Given the description of an element on the screen output the (x, y) to click on. 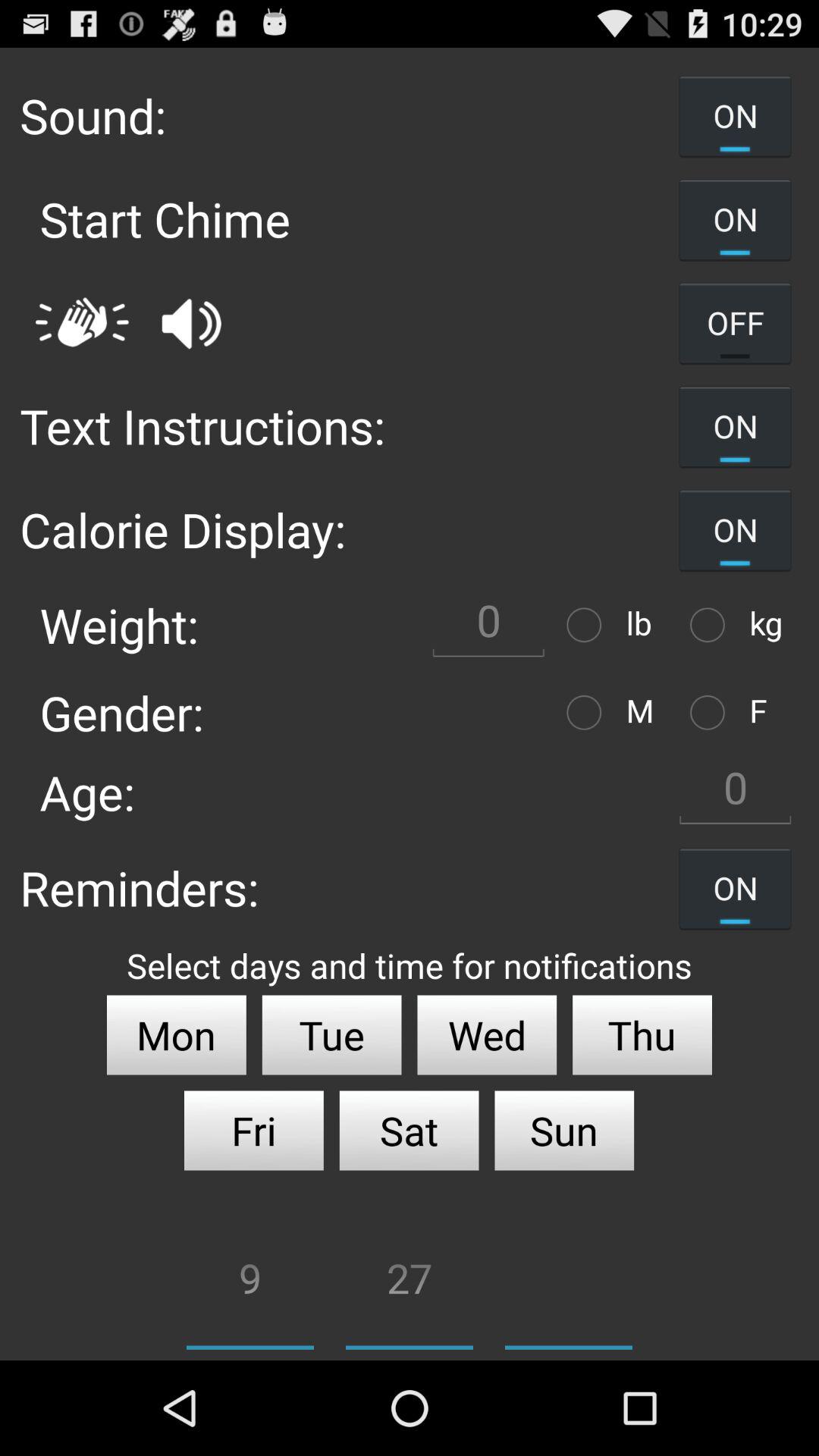
enter age (735, 792)
